Given the description of an element on the screen output the (x, y) to click on. 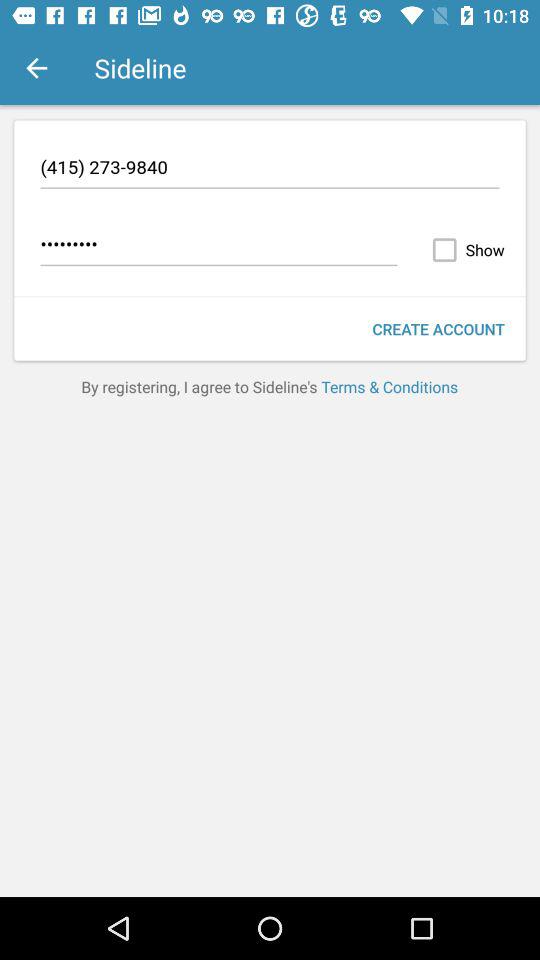
press the icon above the crowd3116 item (269, 170)
